Given the description of an element on the screen output the (x, y) to click on. 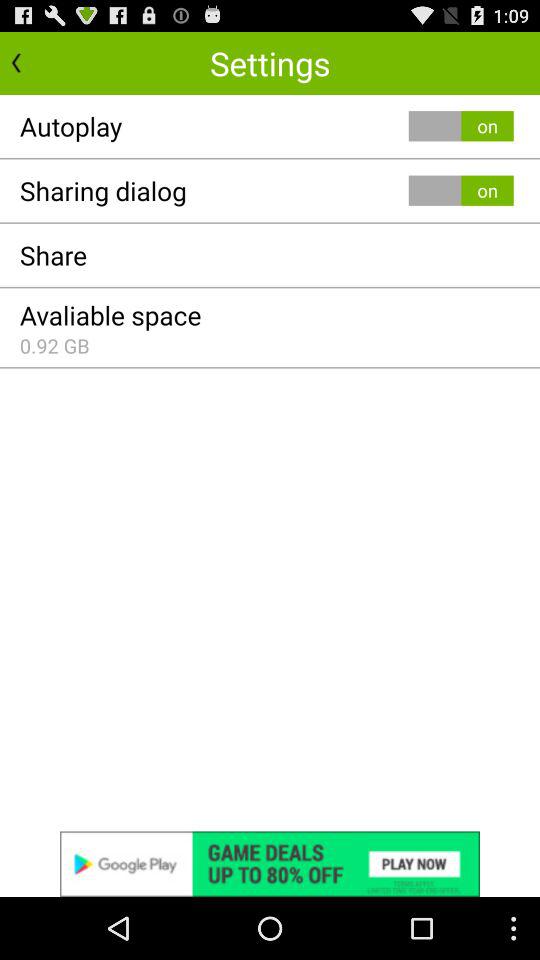
advertisement portion (270, 864)
